Given the description of an element on the screen output the (x, y) to click on. 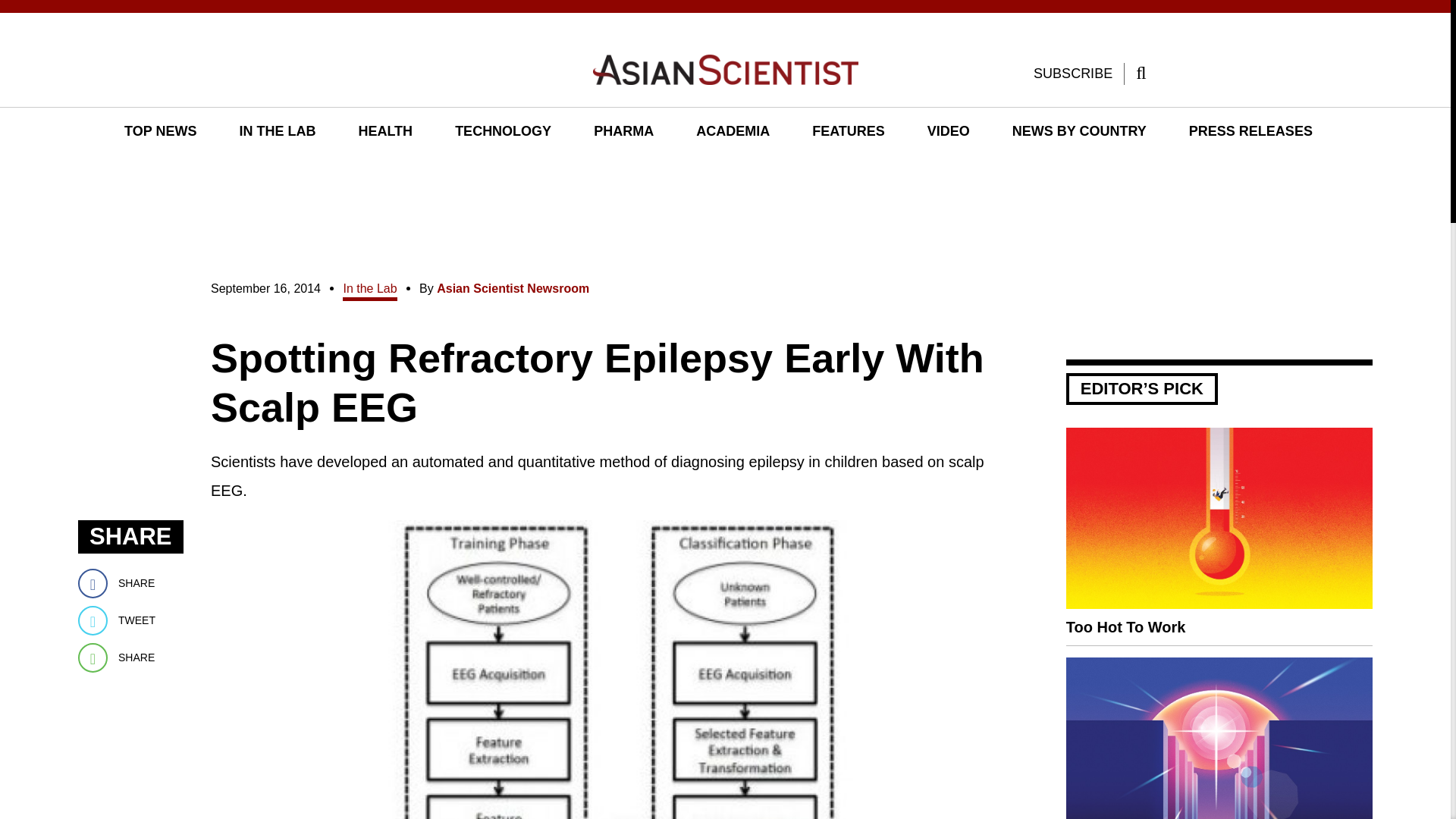
SUBSCRIBE (1072, 73)
ACADEMIA (732, 131)
TOP NEWS (159, 131)
PHARMA (623, 131)
NEWS BY COUNTRY (997, 190)
TECHNOLOGY (488, 190)
HEALTH (385, 131)
HEALTH (385, 190)
FEATURES (848, 131)
PRESS RELEASES (1155, 190)
NEWS BY COUNTRY (1079, 131)
ACADEMIA (691, 190)
IN THE LAB (290, 190)
TECHNOLOGY (502, 131)
PHARMA (596, 190)
